Given the description of an element on the screen output the (x, y) to click on. 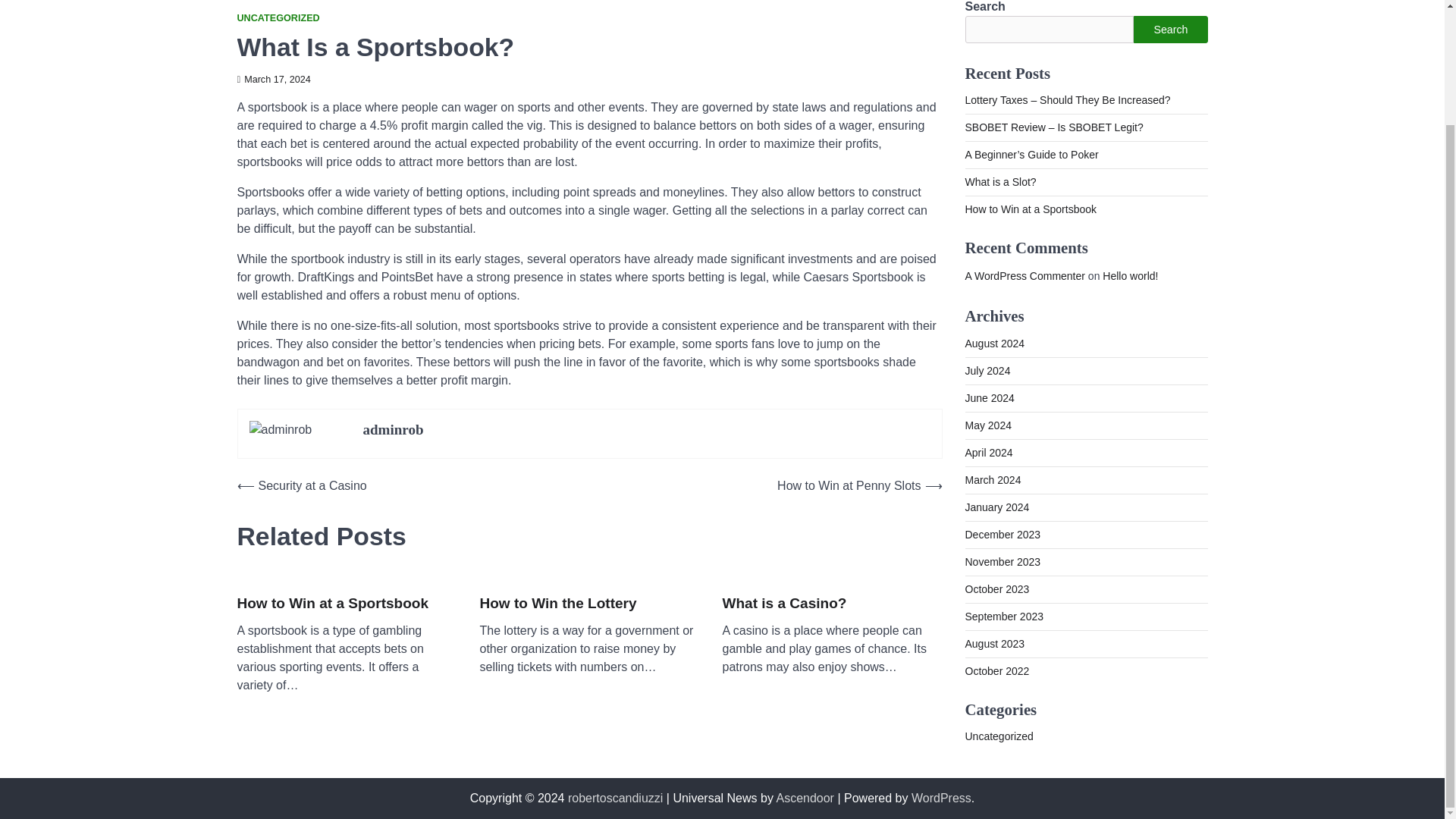
September 2023 (1003, 615)
April 2024 (987, 451)
What is a Slot? (999, 182)
UNCATEGORIZED (276, 18)
June 2024 (988, 397)
Ascendoor (805, 797)
August 2023 (994, 643)
robertoscandiuzzi (614, 797)
November 2023 (1002, 561)
Hello world! (1129, 275)
